Given the description of an element on the screen output the (x, y) to click on. 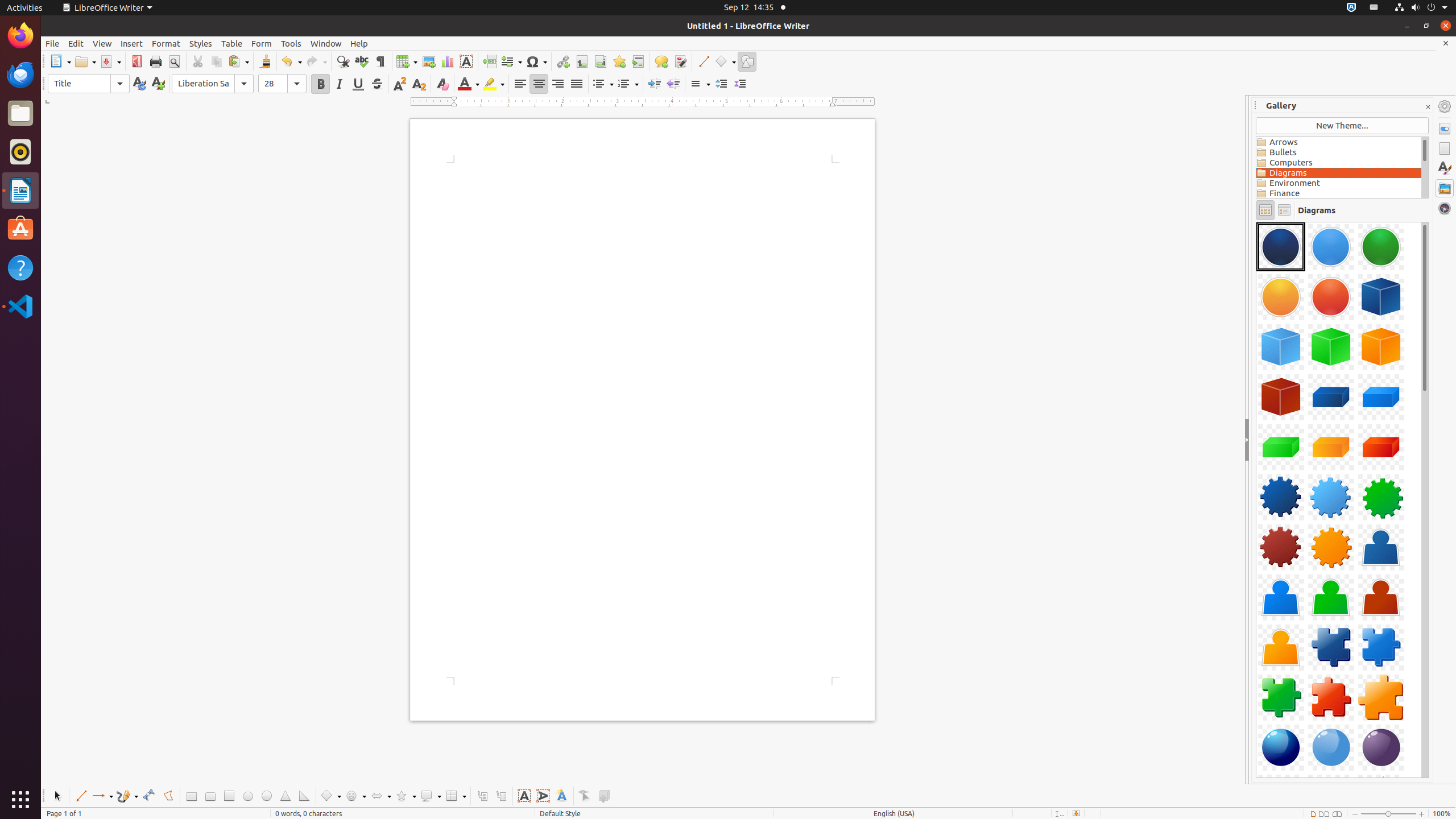
Icon View Element type: toggle-button (1264, 210)
Component-Gear04-DarkRed Element type: list-item (1280, 546)
Component-Cuboid04-Orange Element type: list-item (1330, 446)
Component-Cuboid02-Blue Element type: list-item (1380, 396)
Horizontal Ruler Element type: ruler (642, 101)
